Given the description of an element on the screen output the (x, y) to click on. 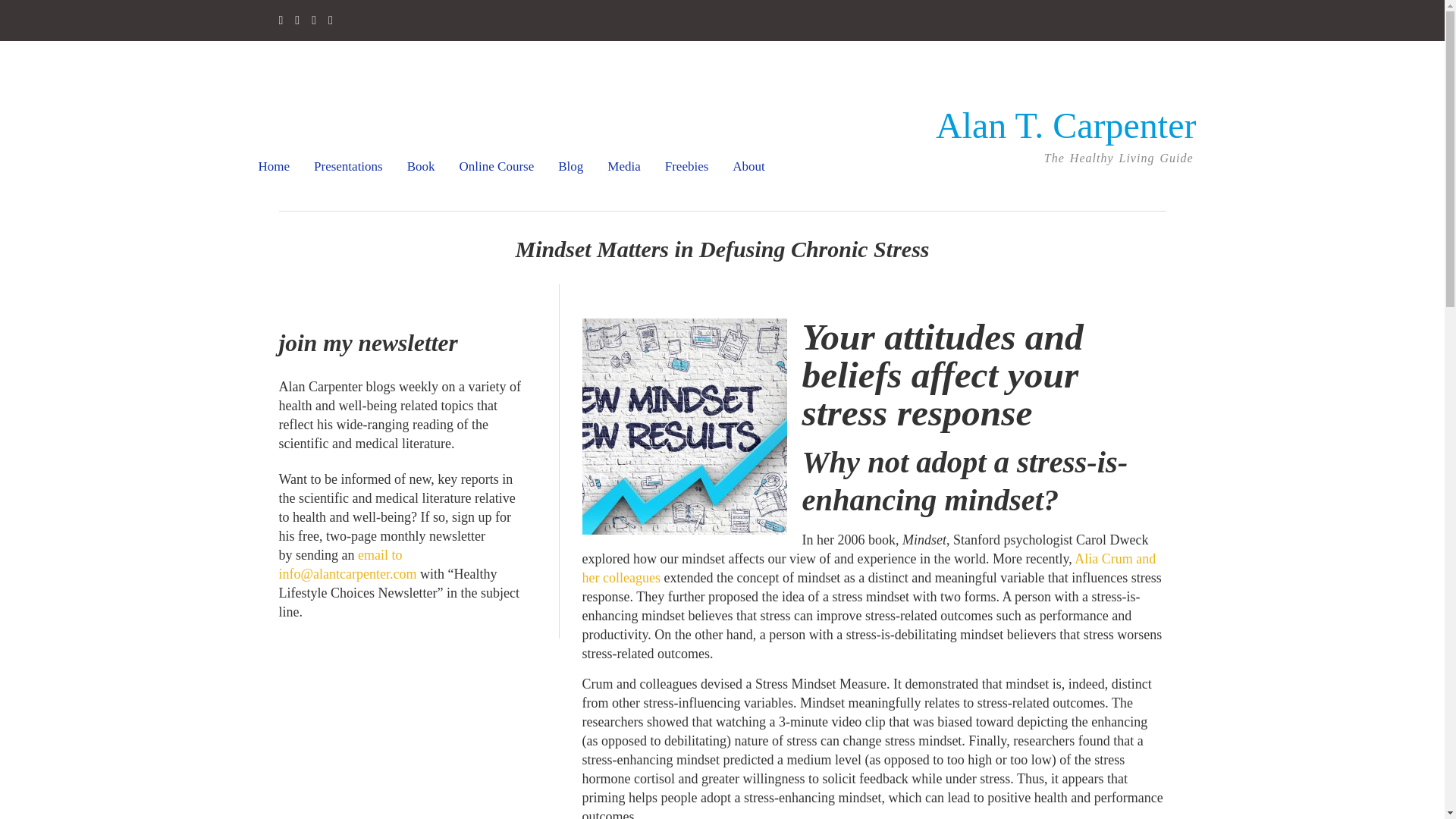
Media (623, 167)
The Healthy Living Guide (1065, 125)
Freebies (687, 167)
rss (297, 20)
youtube (331, 20)
Alia Crum and her colleagues (869, 568)
Blog (570, 167)
linkedin (313, 20)
Online Course (496, 167)
Home (274, 167)
facebook (281, 20)
Book (421, 167)
Presentations (348, 167)
About (748, 167)
Alan T. Carpenter (1065, 125)
